Given the description of an element on the screen output the (x, y) to click on. 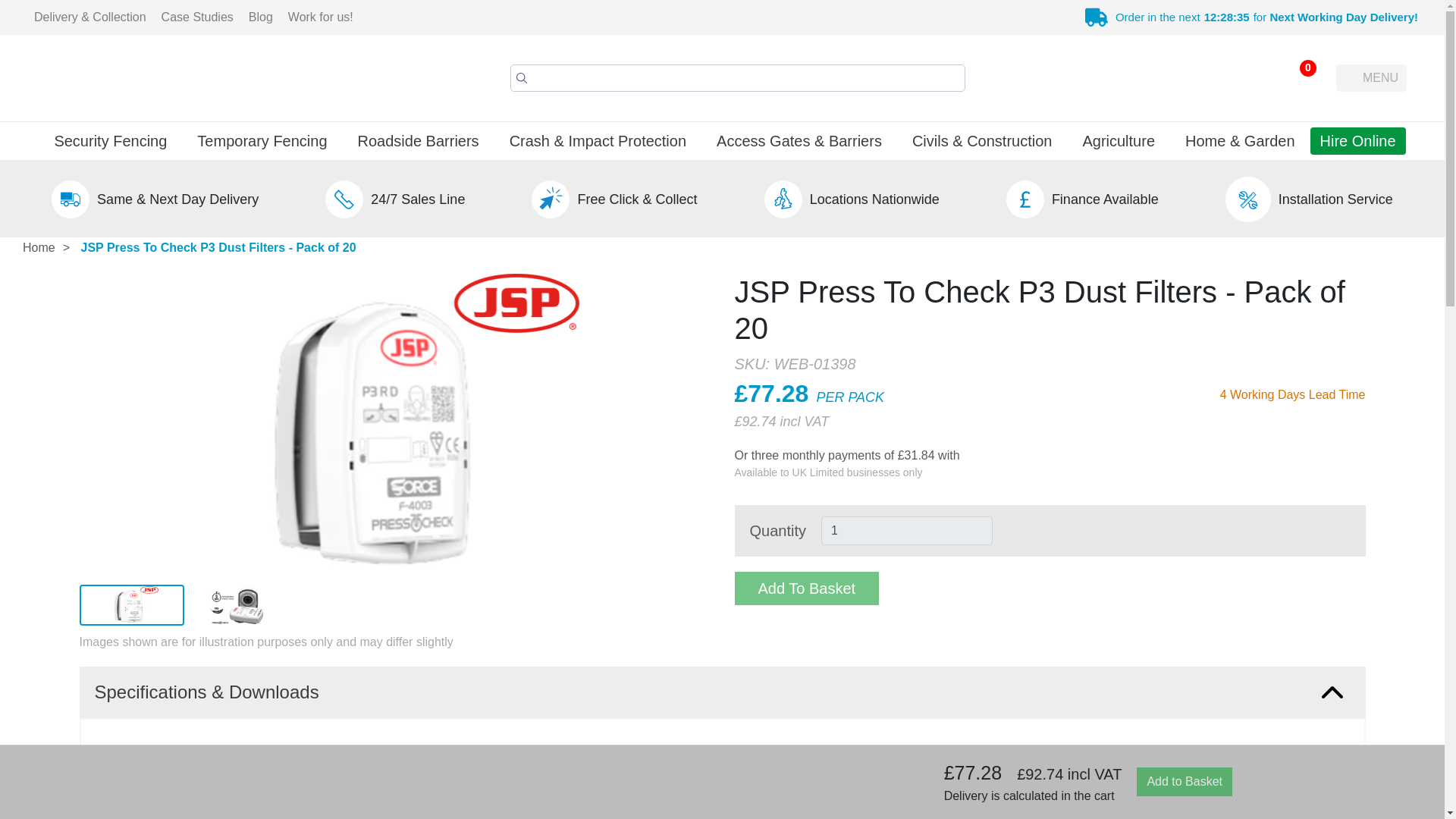
Home (38, 248)
Work for us! (321, 17)
Installation Service (1335, 199)
0 (1297, 77)
Add To Basket (806, 588)
Case Studies (197, 17)
Blog (261, 17)
1 (906, 530)
Add to Basket (1184, 781)
Submit the search query (521, 77)
Locations Nationwide (874, 199)
SPECIFICATION (1248, 767)
CONFORMITY (1248, 809)
JSP Press To Check P3 Dust Filters - Pack of 20 (217, 246)
MENU (1371, 77)
